Given the description of an element on the screen output the (x, y) to click on. 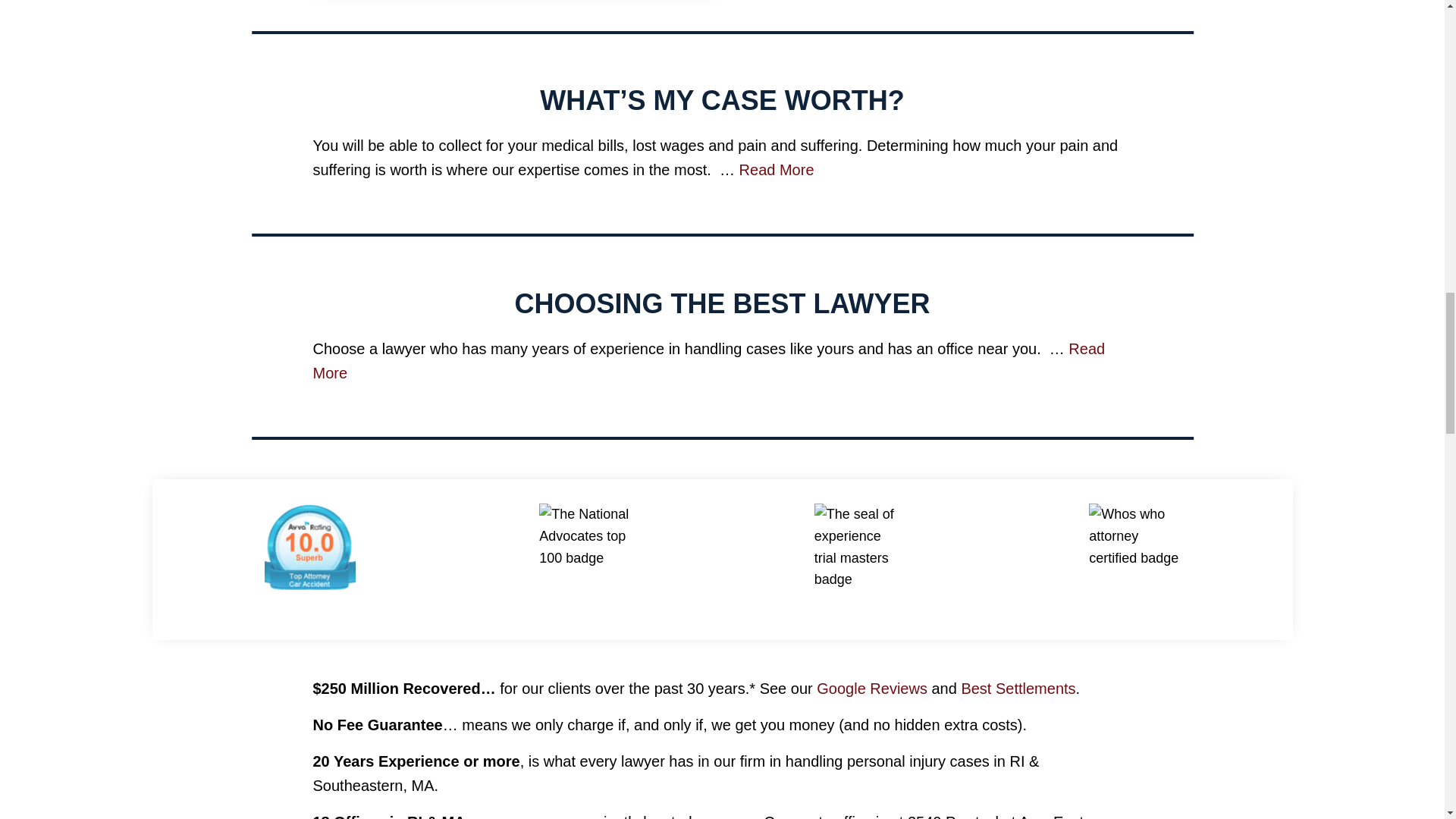
CHOOSING THE BEST LAWYER (721, 303)
Google Reviews (871, 688)
Read More (776, 169)
Read More (709, 360)
Best Settlements (1017, 688)
